Given the description of an element on the screen output the (x, y) to click on. 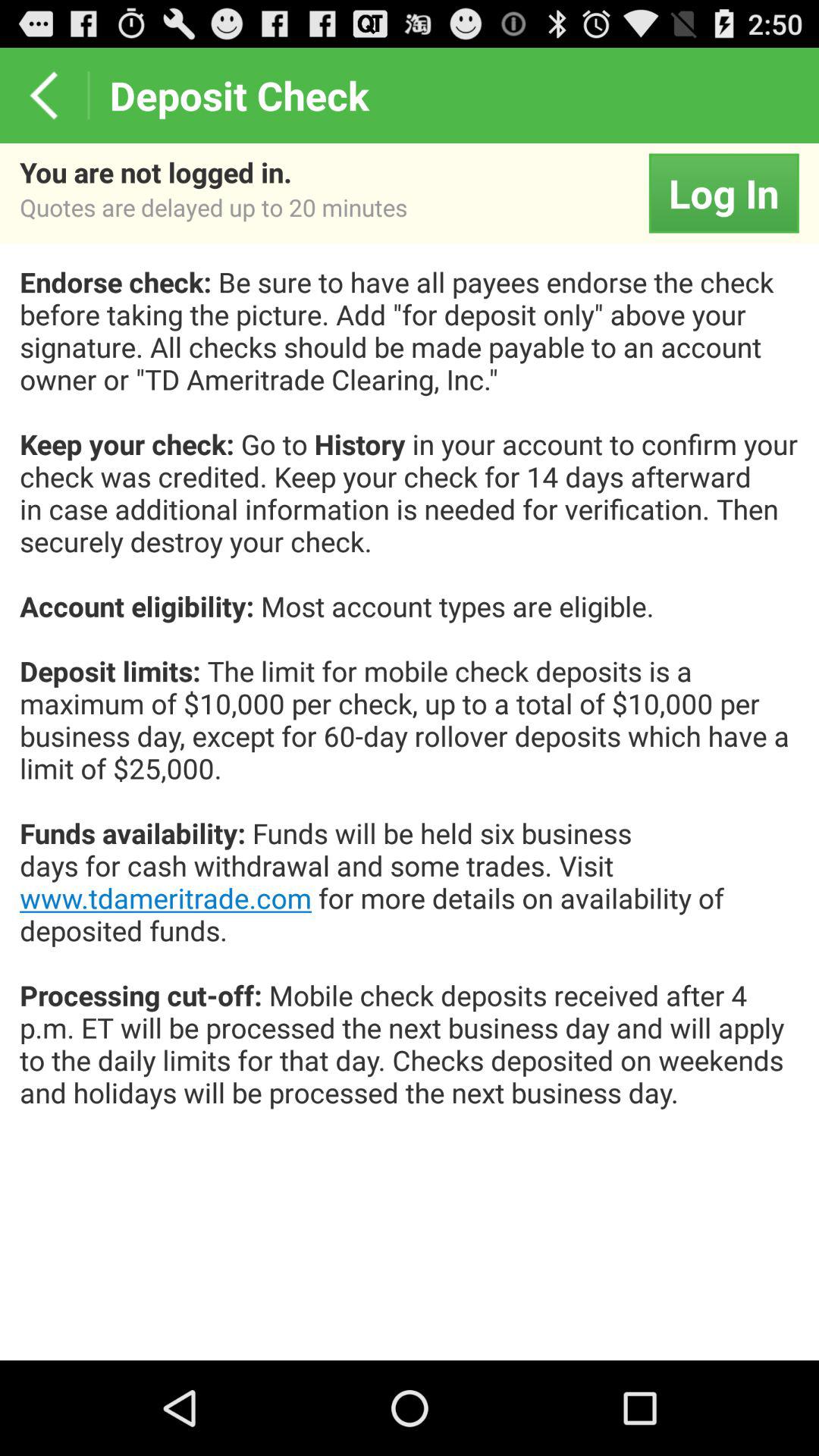
jump until the endorse check be (409, 703)
